Given the description of an element on the screen output the (x, y) to click on. 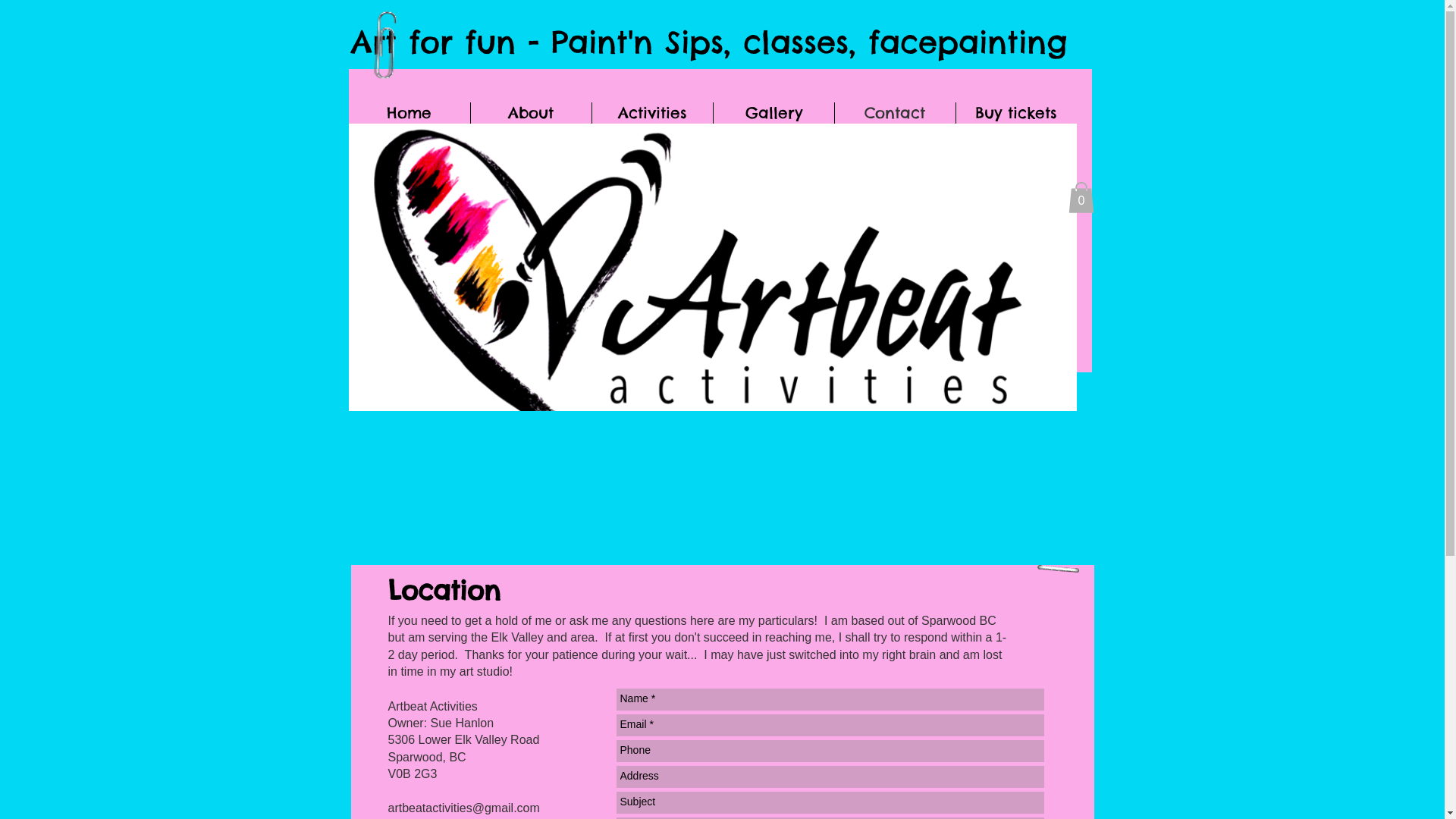
artbeatactivities@gmail.com Element type: text (463, 807)
Gallery Element type: text (772, 112)
Home Element type: text (409, 112)
Contact Element type: text (894, 112)
0 Element type: text (1080, 197)
Activities Element type: text (651, 112)
About Element type: text (530, 112)
Buy tickets Element type: text (1015, 112)
